Given the description of an element on the screen output the (x, y) to click on. 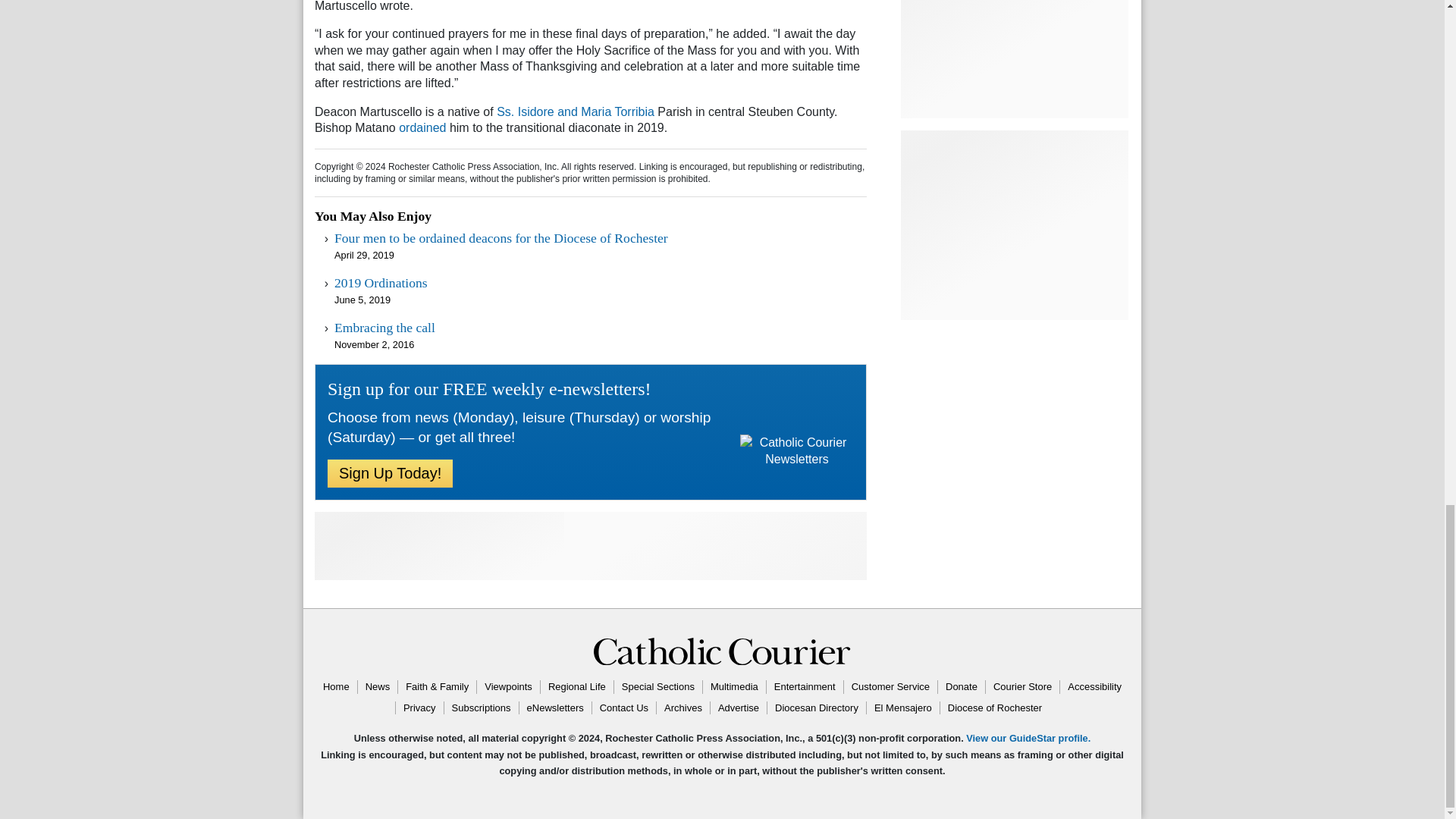
Embracing the call (384, 327)
2019 Ordinations (381, 282)
Four men to be ordained deacons for the Diocese of Rochester (501, 237)
